Given the description of an element on the screen output the (x, y) to click on. 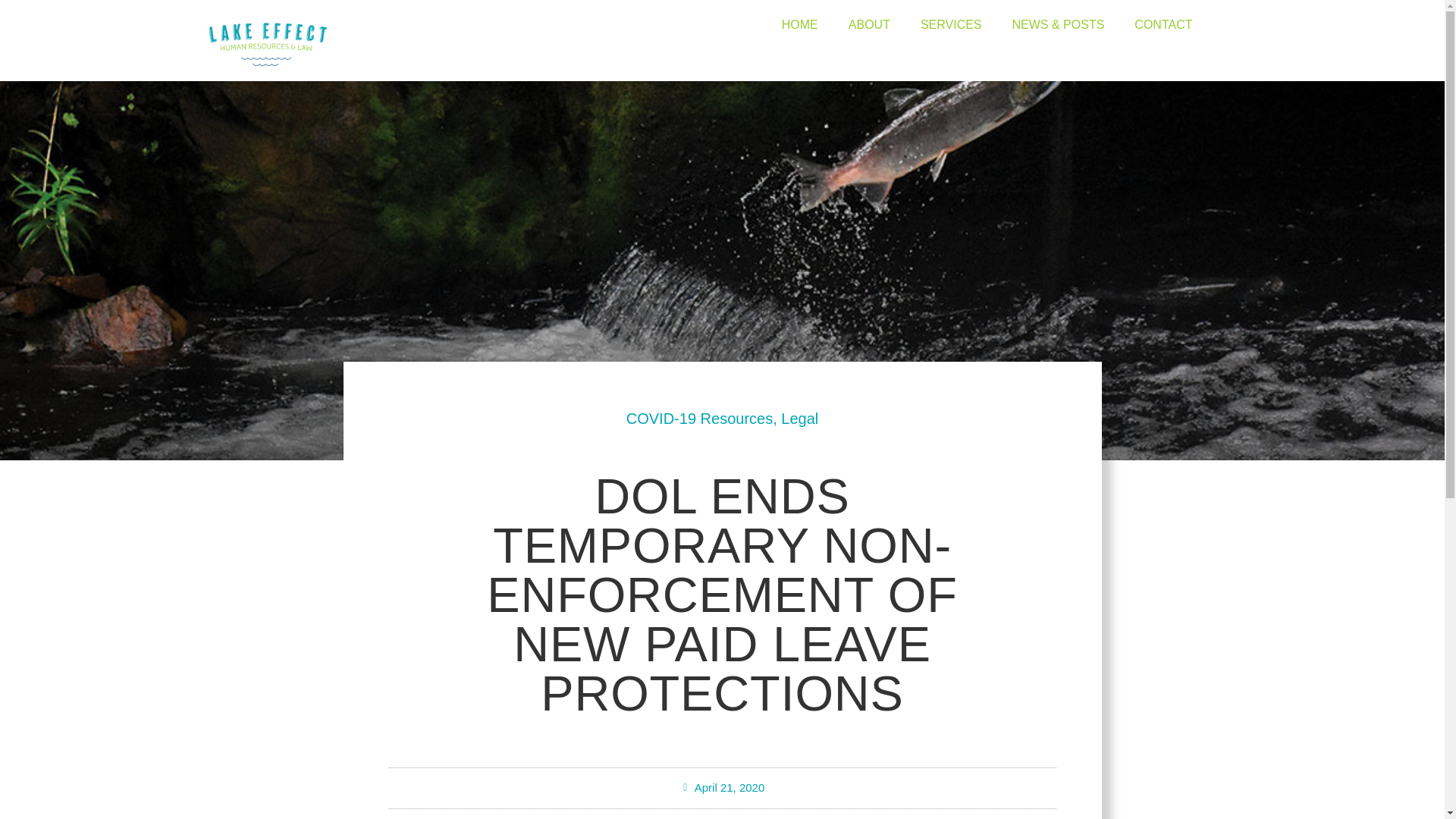
SERVICES (951, 24)
HOME (799, 24)
April 21, 2020 (722, 787)
COVID-19 Resources (699, 418)
Legal (799, 418)
ABOUT (868, 24)
CONTACT (1163, 24)
